Given the description of an element on the screen output the (x, y) to click on. 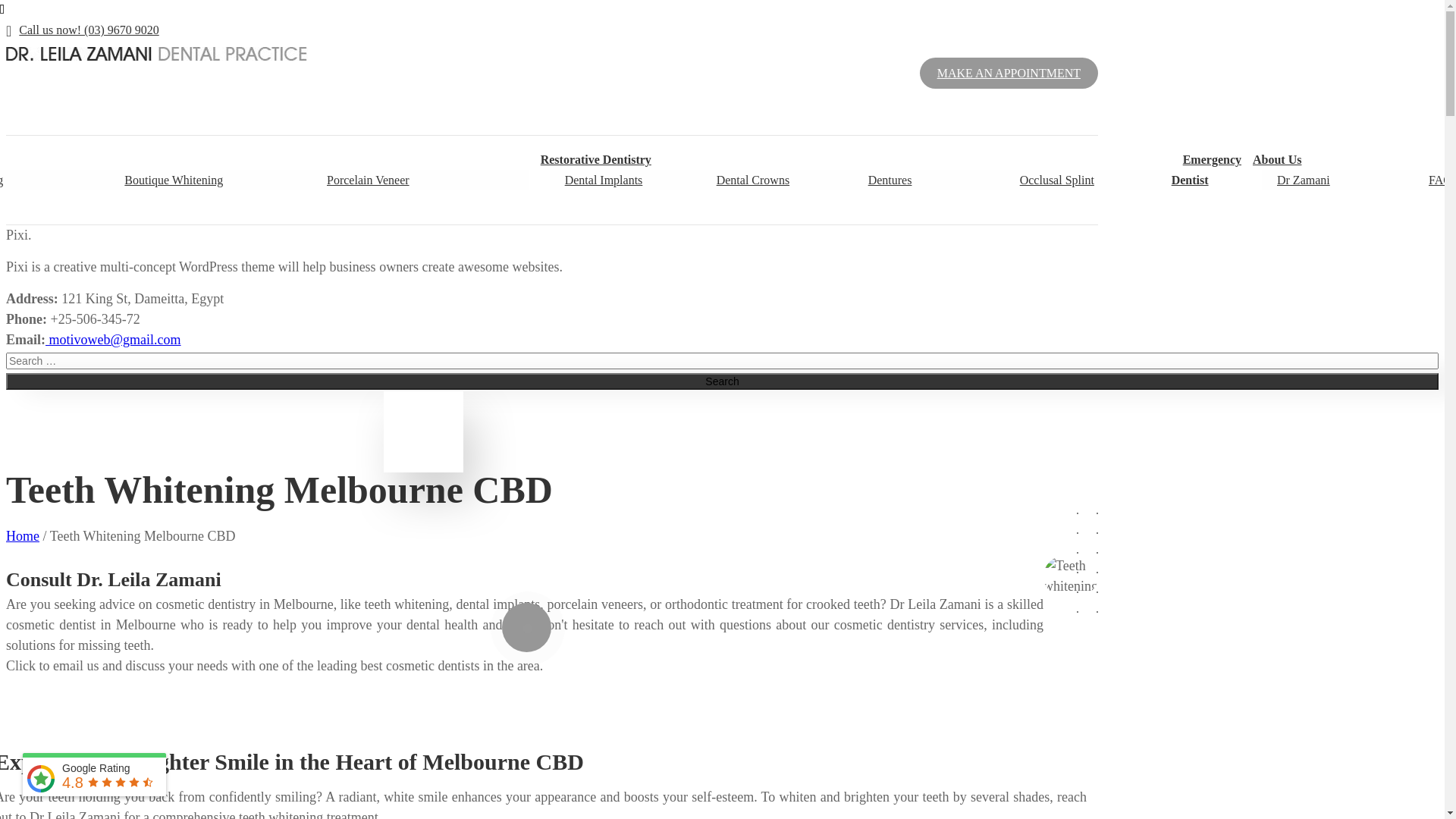
Boutique Whitening Element type: text (173, 179)
Dentures Element type: text (890, 179)
About Us Element type: text (1276, 159)
motivoweb@gmail.com Element type: text (113, 339)
Porcelain Veneer Element type: text (367, 179)
Search Element type: text (722, 381)
Dental Crowns Element type: text (752, 179)
Occlusal Splint Element type: text (1056, 179)
MAKE AN APPOINTMENT Element type: text (1008, 72)
Restorative Dentistry Element type: text (595, 159)
Dental Implants Element type: text (603, 179)
Call us now! (03) 9670 9020 Element type: text (82, 29)
Home Element type: text (22, 535)
Dr Zamani Element type: text (1303, 179)
Emergency Dentist Element type: text (1206, 169)
